Given the description of an element on the screen output the (x, y) to click on. 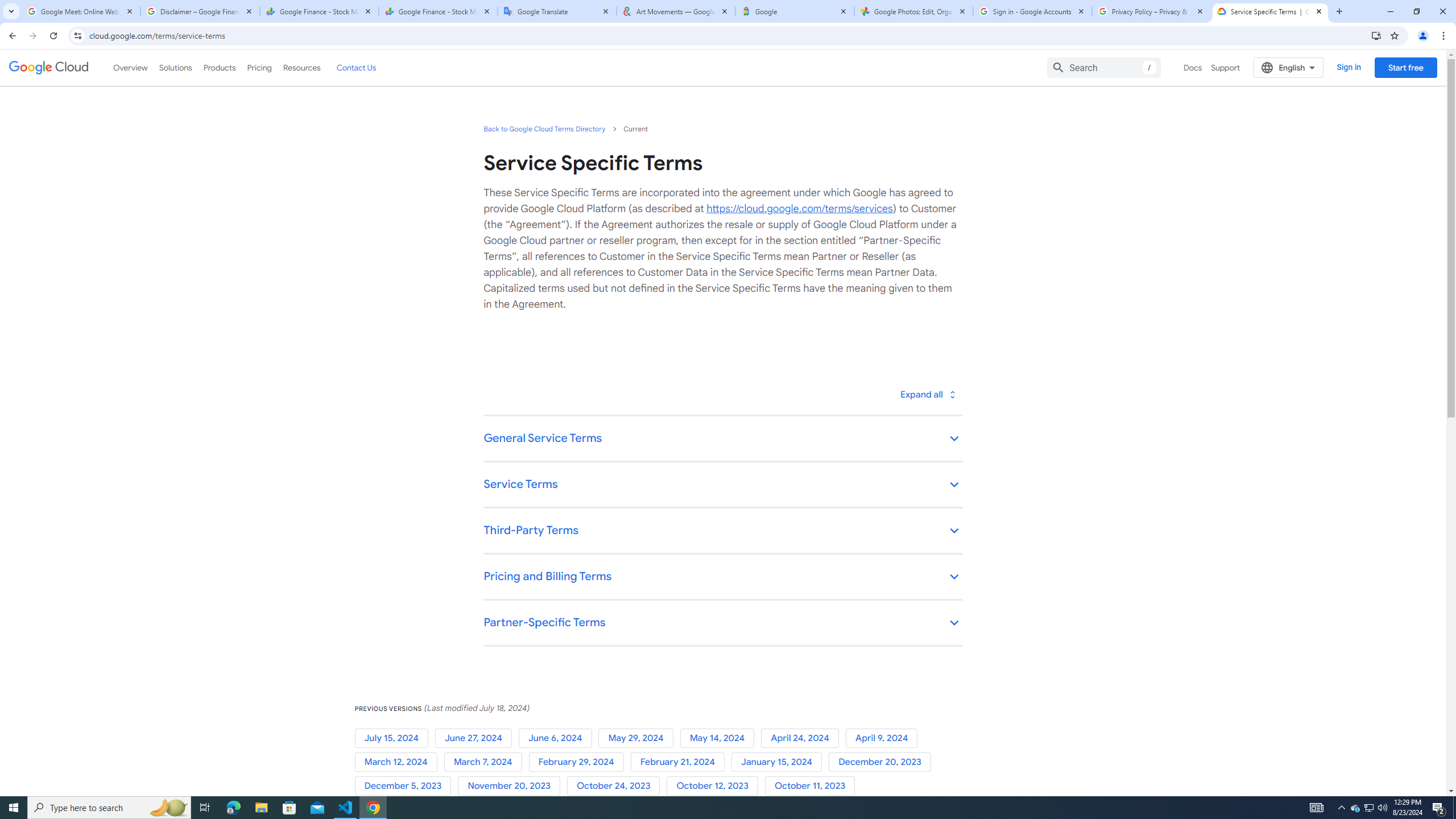
Service Terms keyboard_arrow_down (722, 485)
April 9, 2024 (883, 737)
Partner-Specific Terms keyboard_arrow_down (722, 623)
January 15, 2024 (779, 761)
Sign in (1348, 67)
System (6, 6)
Google Cloud (48, 67)
Search (1103, 67)
Chrome (1445, 35)
